Given the description of an element on the screen output the (x, y) to click on. 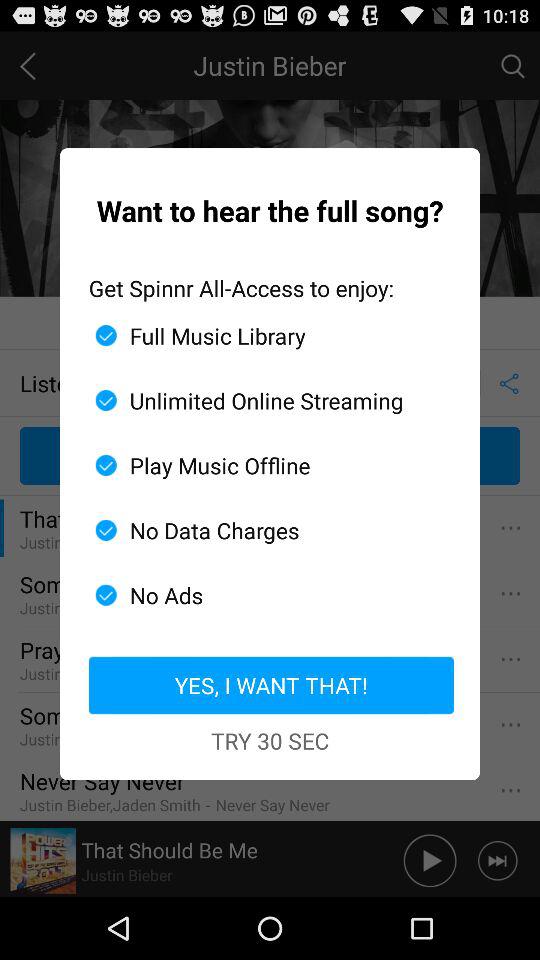
turn off the icon below the no data charges app (261, 595)
